Given the description of an element on the screen output the (x, y) to click on. 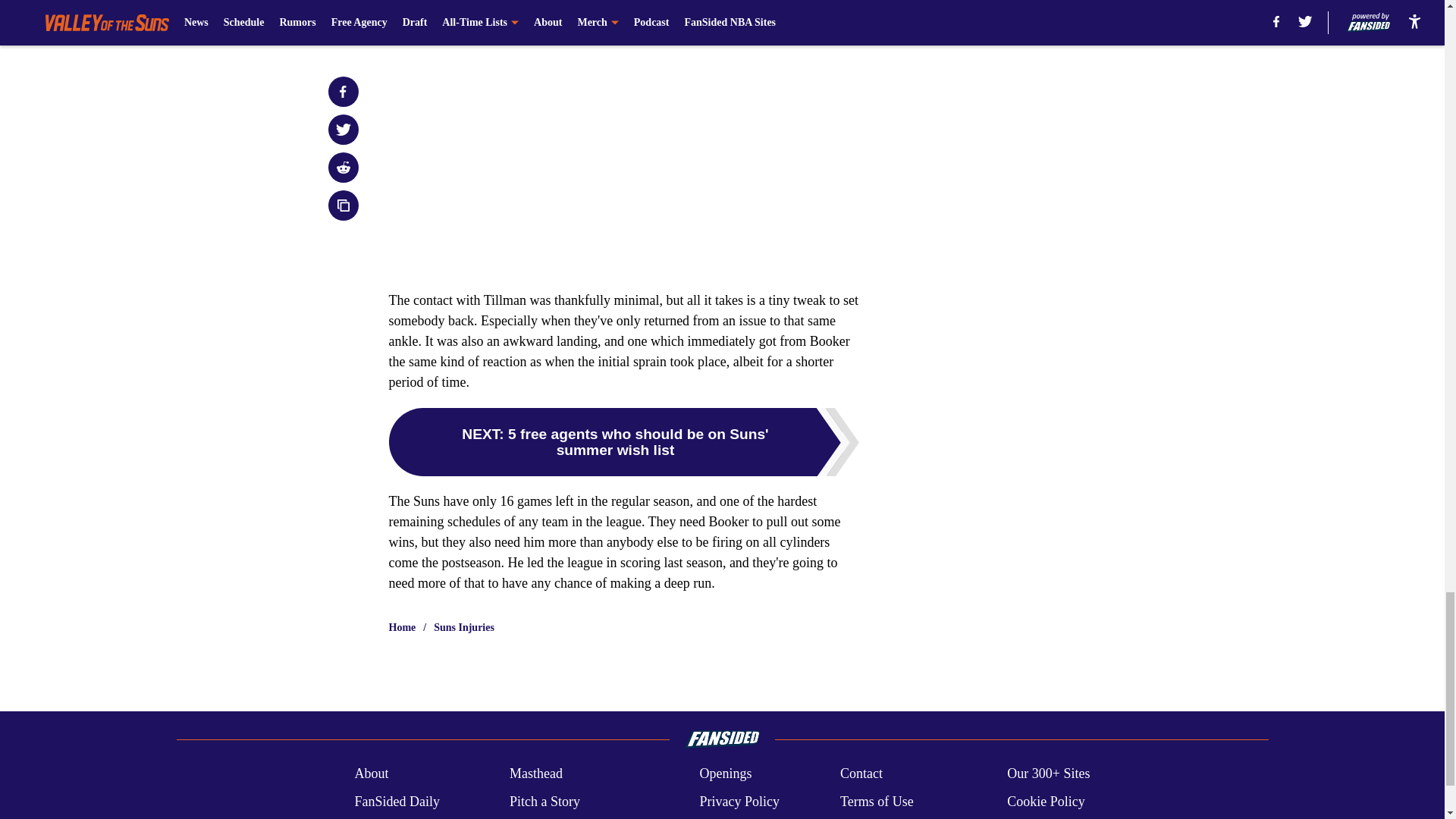
Home (401, 627)
NEXT: 5 free agents who should be on Suns' summer wish list (623, 441)
Suns Injuries (464, 627)
